Given the description of an element on the screen output the (x, y) to click on. 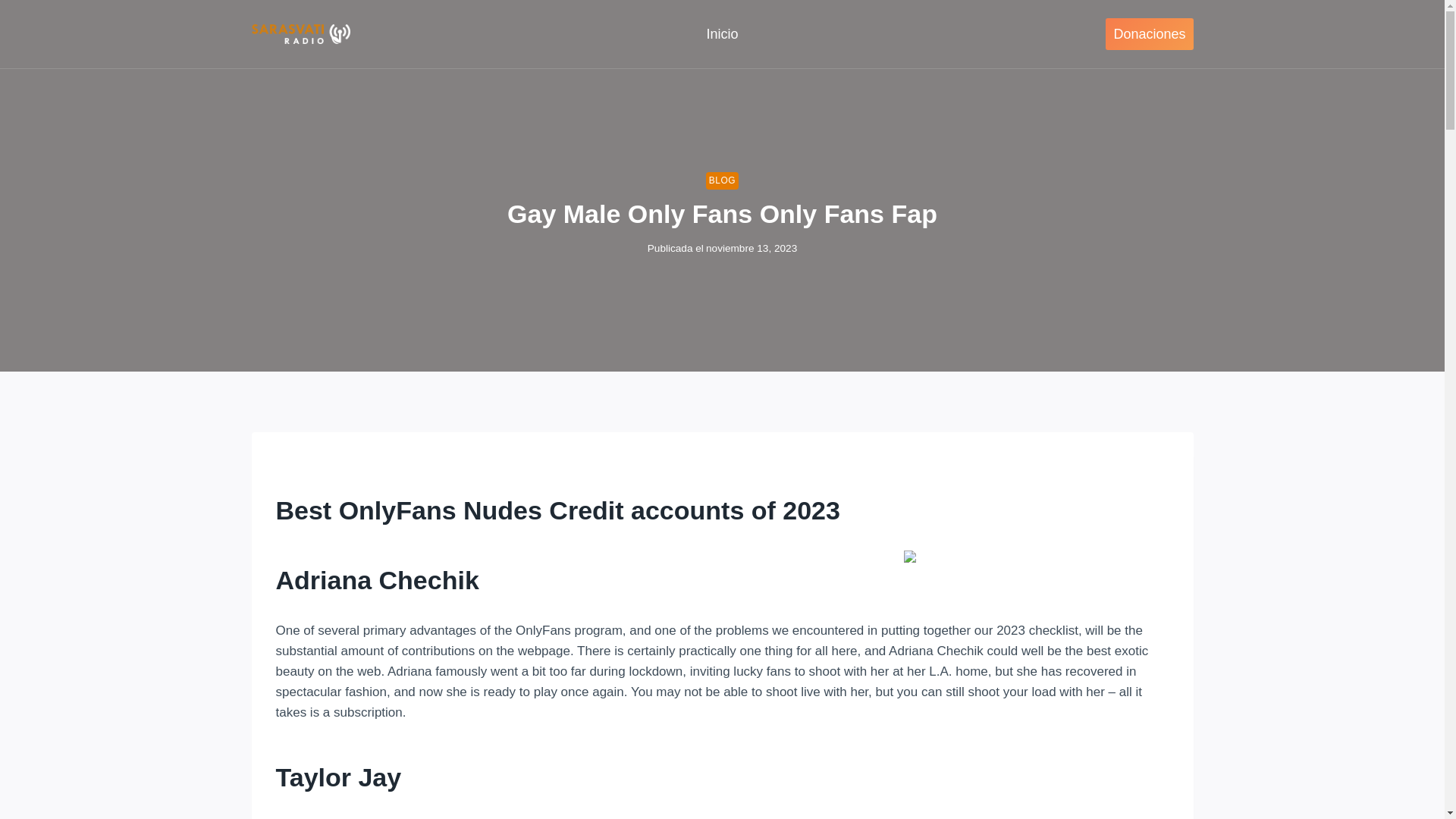
Inicio (722, 34)
BLOG (722, 180)
Donaciones (1148, 34)
